Given the description of an element on the screen output the (x, y) to click on. 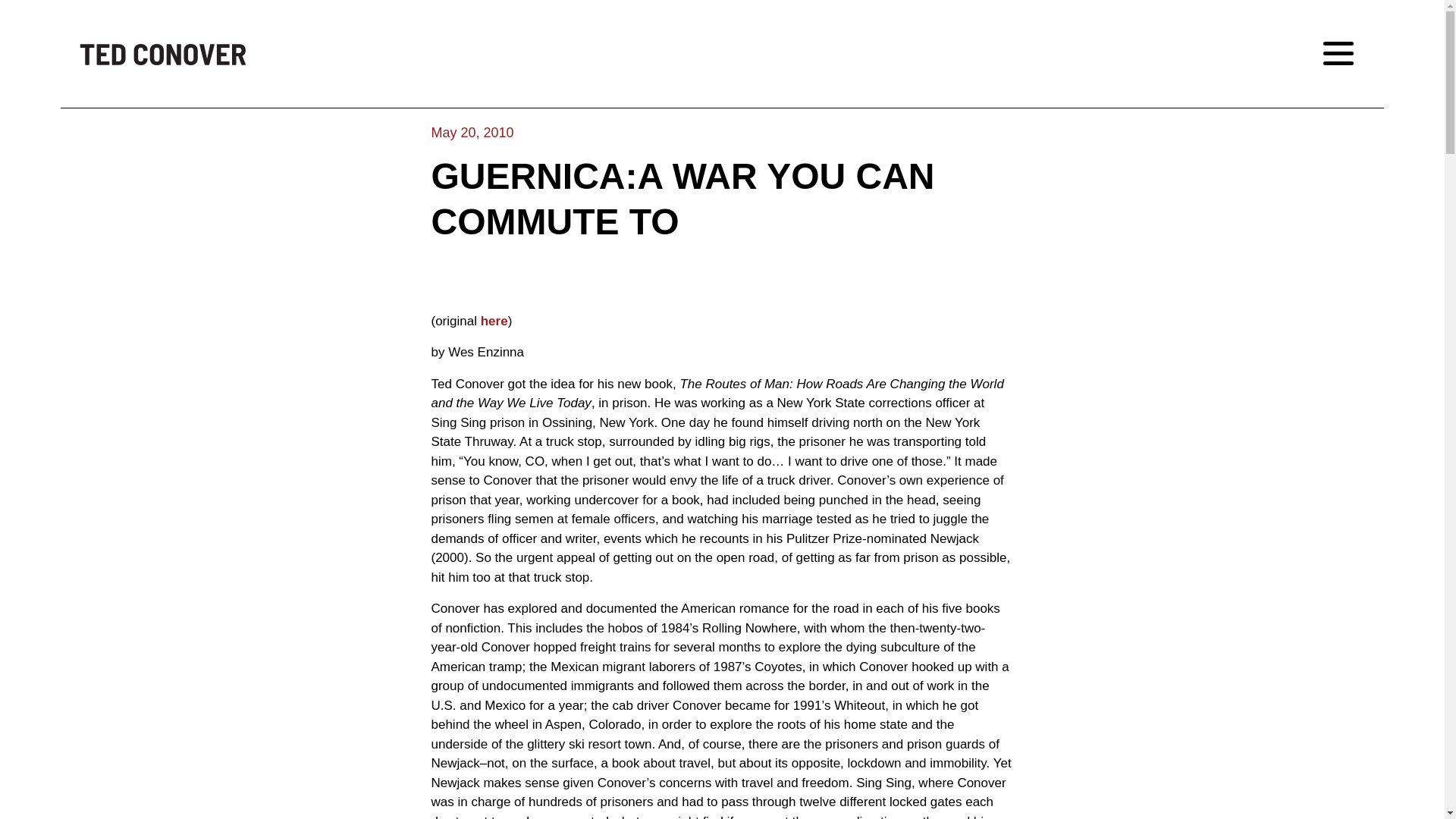
Ted Conover (162, 54)
Toggle Menu (1345, 53)
Toggle Menu (1345, 53)
here (494, 320)
